Given the description of an element on the screen output the (x, y) to click on. 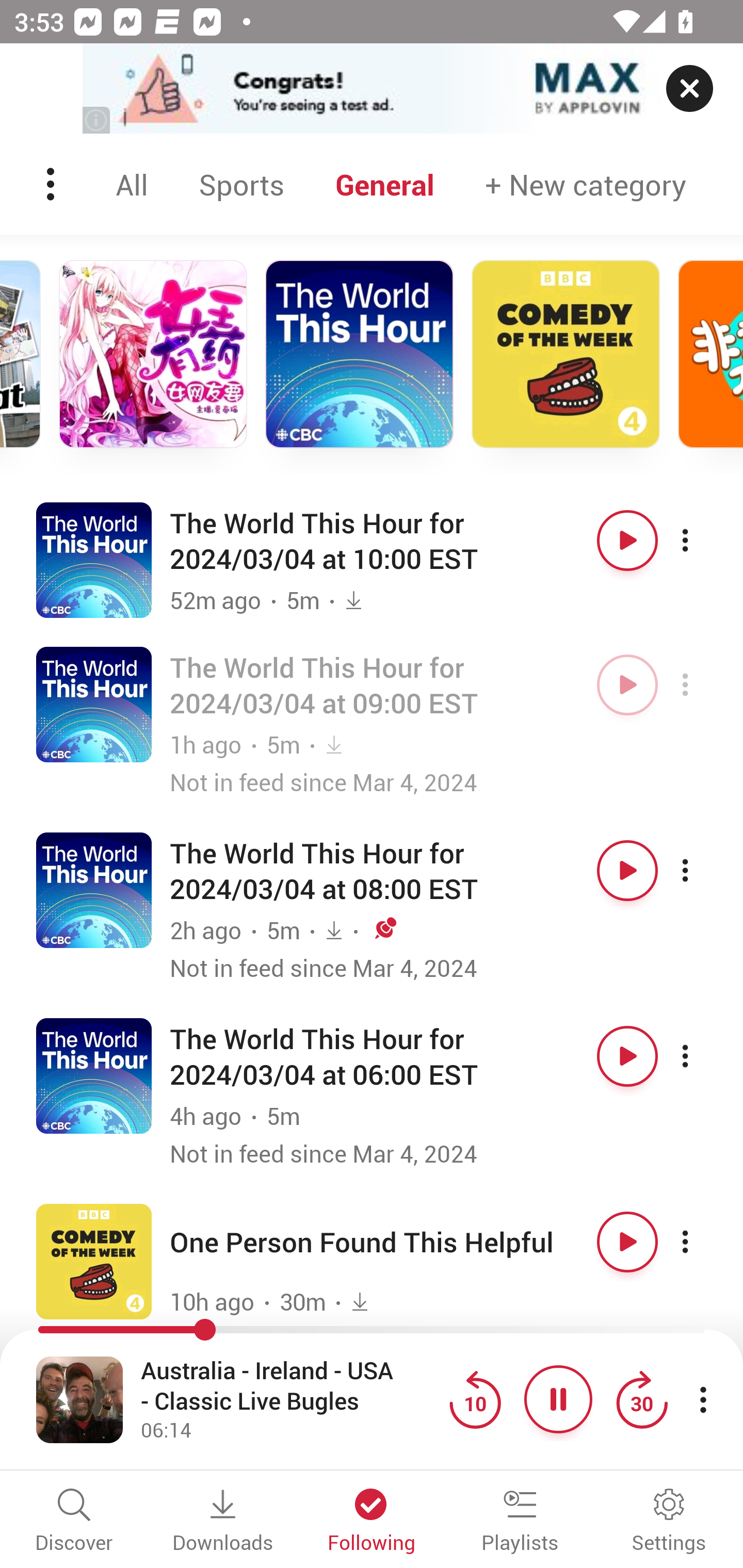
app-monetization (371, 88)
(i) (96, 119)
Menu (52, 184)
All (131, 184)
Sports (241, 184)
General (384, 184)
New category + New category (585, 184)
女王有药丨爆笑脱口秀 (152, 354)
The World This Hour (359, 354)
Comedy of the Week (565, 354)
Play button (627, 540)
More options (703, 540)
Open series The World This Hour (93, 559)
Play button (627, 685)
More options (703, 685)
Open series The World This Hour (93, 704)
Play button (627, 871)
More options (703, 871)
Open series The World This Hour (93, 890)
Play button (627, 1056)
More options (703, 1056)
Open series The World This Hour (93, 1075)
Play button (627, 1241)
More options (703, 1241)
Open series Comedy of the Week (93, 1261)
Open fullscreen player (79, 1399)
More player controls (703, 1399)
Australia - Ireland - USA - Classic Live Bugles (290, 1385)
Pause button (558, 1398)
Jump back (475, 1399)
Jump forward (641, 1399)
Discover (74, 1521)
Downloads (222, 1521)
Following (371, 1521)
Playlists (519, 1521)
Settings (668, 1521)
